Given the description of an element on the screen output the (x, y) to click on. 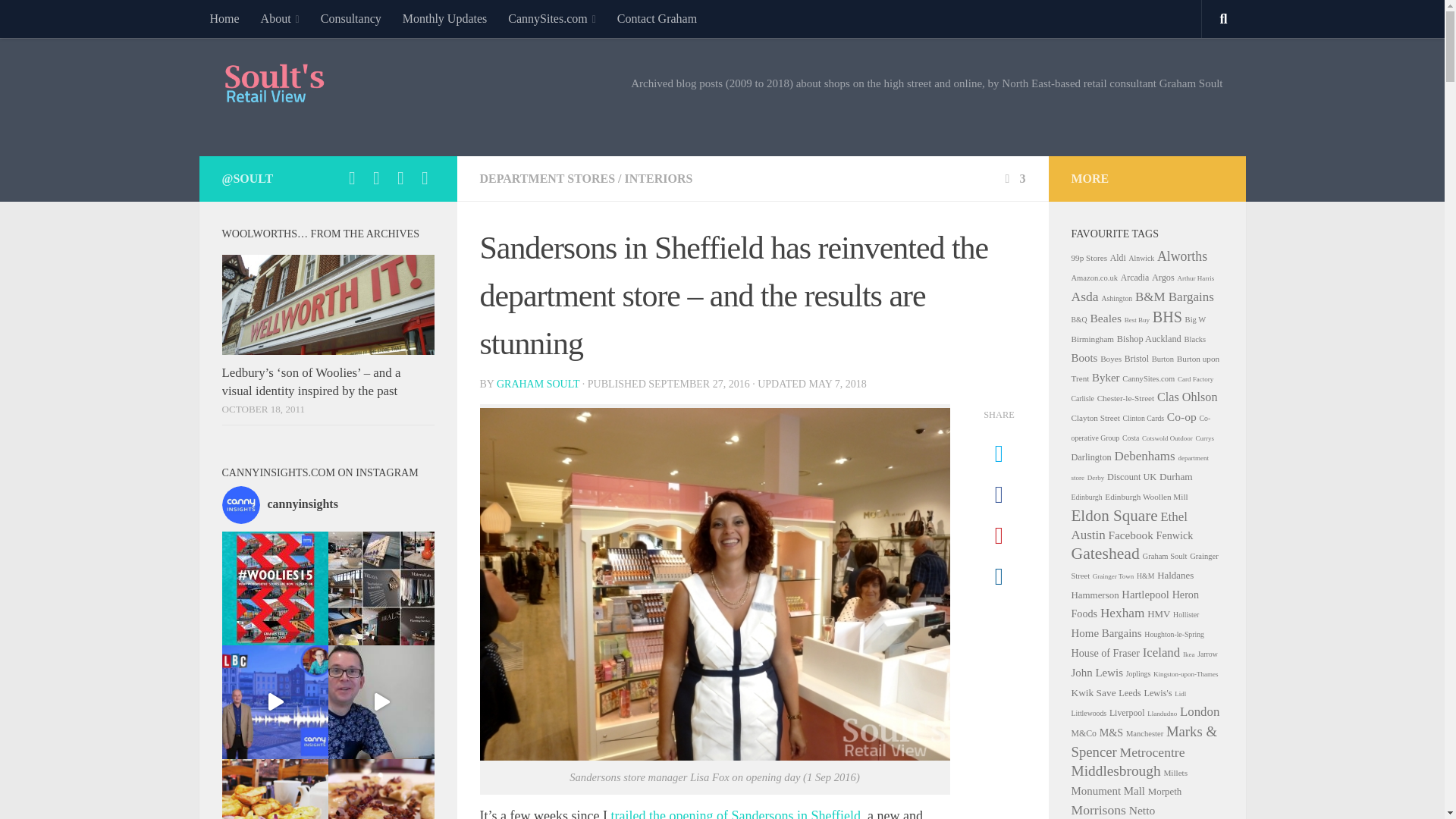
Skip to content (59, 20)
About (280, 18)
Follow me on Twitter (351, 177)
Home (223, 18)
CannySites.com (552, 18)
trailed the opening of Sandersons in Sheffield (735, 813)
DEPARTMENT STORES (546, 178)
GRAHAM SOULT (537, 383)
Posts by Graham Soult (537, 383)
Like CannyInsights.com on Facebook (400, 177)
Contact Graham (657, 18)
Monthly Updates (444, 18)
INTERIORS (658, 178)
3 (1013, 178)
Connect with me on LinkedIn (375, 177)
